Given the description of an element on the screen output the (x, y) to click on. 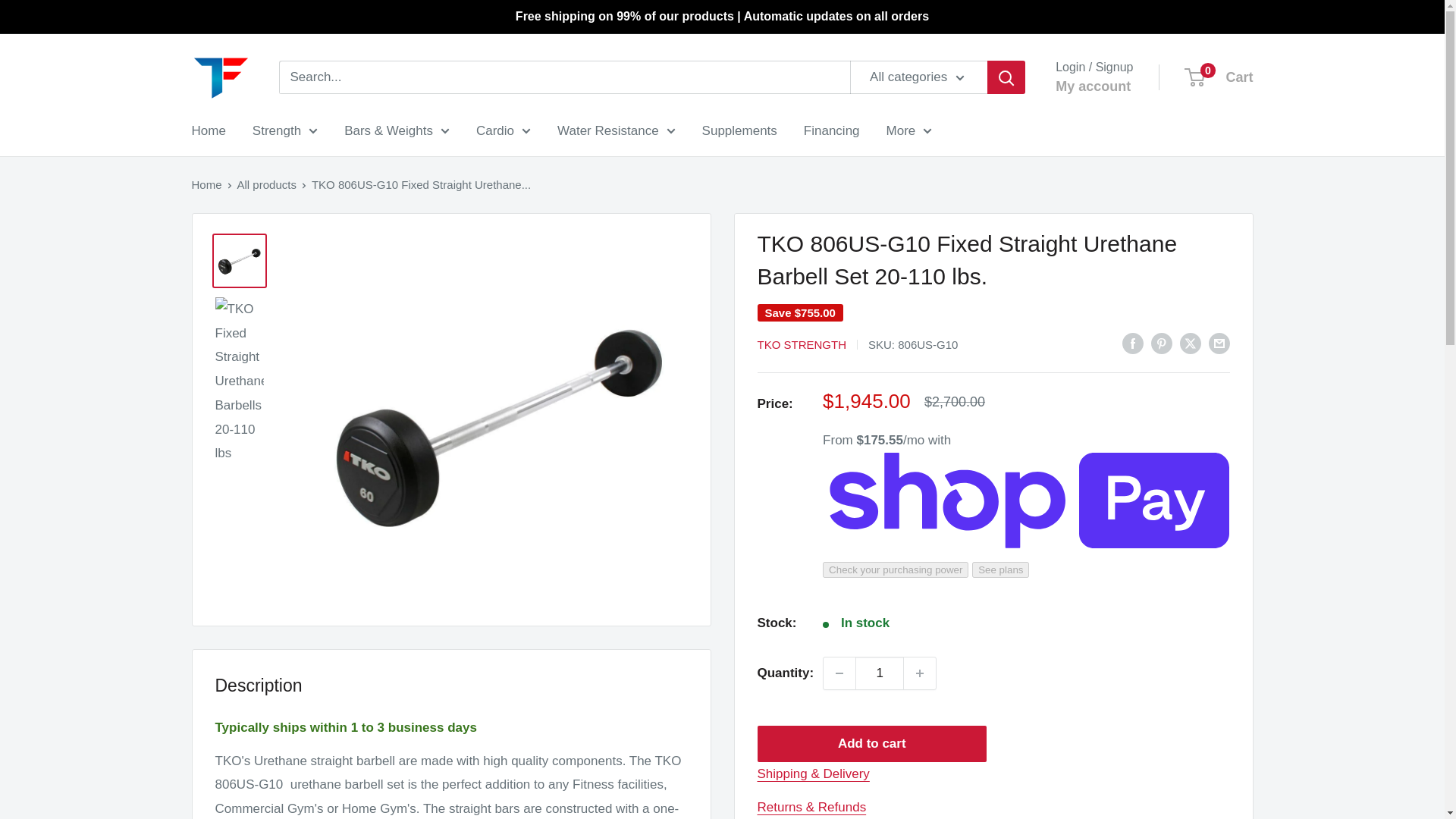
1 (880, 673)
Refund Policy (811, 807)
Increase quantity by 1 (920, 673)
Decrease quantity by 1 (840, 673)
Shipping Policy (813, 773)
